Given the description of an element on the screen output the (x, y) to click on. 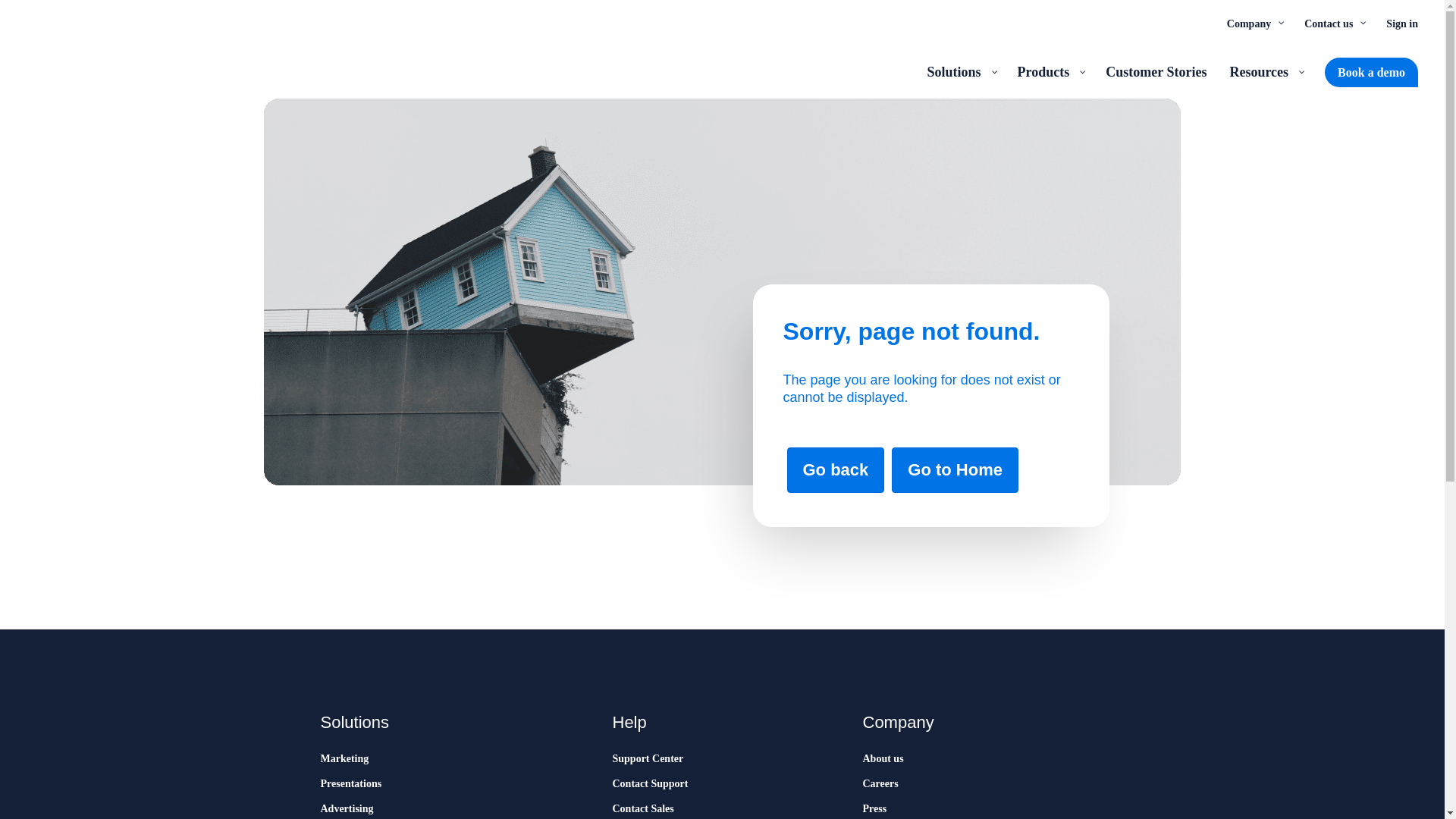
Products (1050, 72)
Company (1253, 22)
Sign in (1401, 22)
Contact us (1333, 22)
Solutions (960, 72)
